Given the description of an element on the screen output the (x, y) to click on. 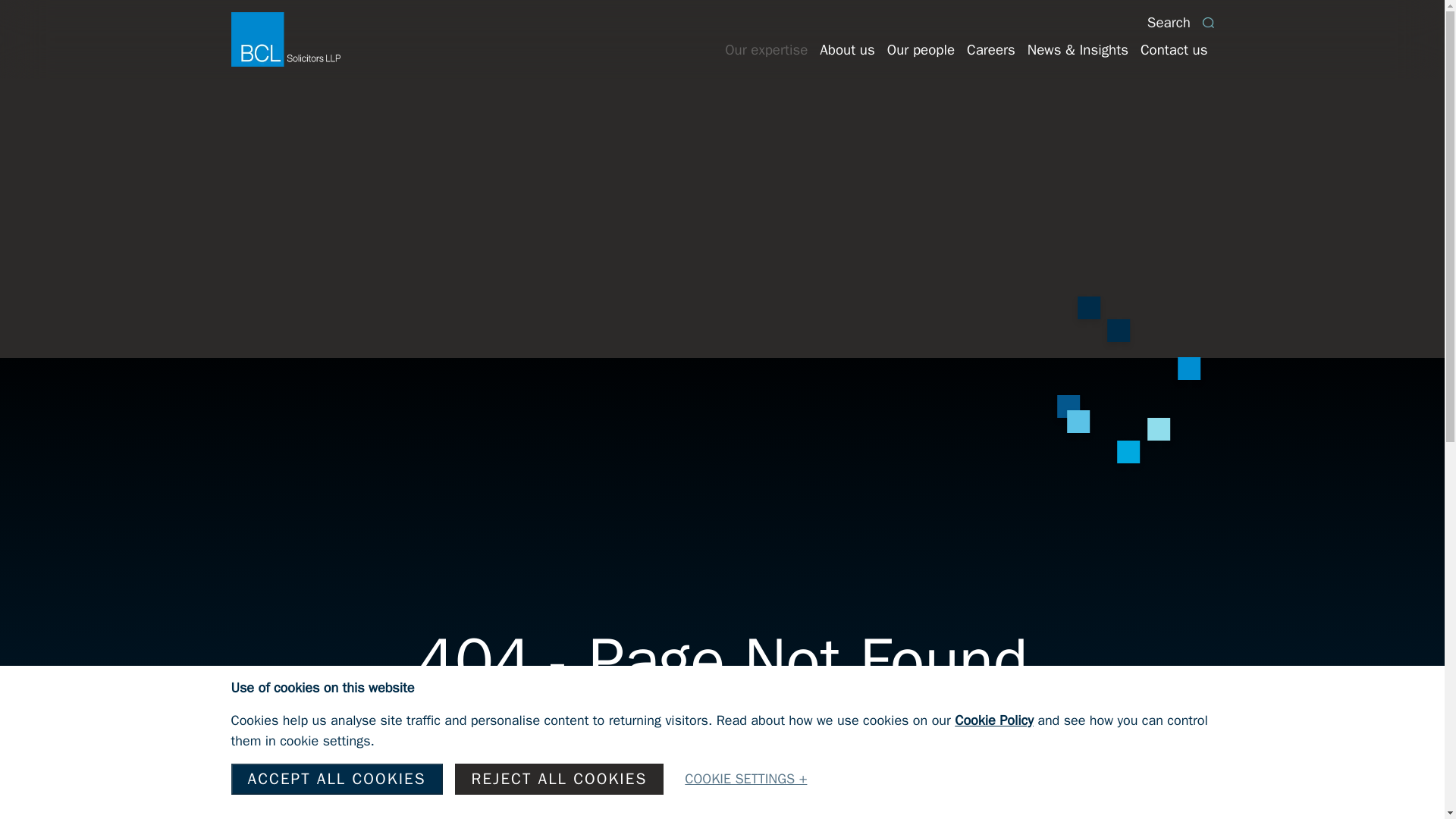
Cookie Policy (994, 719)
About us (846, 49)
Contact us (1174, 49)
Our expertise (766, 49)
ACCEPT ALL COOKIES (336, 778)
Go to Home Page (721, 758)
Careers (991, 49)
Our people (920, 49)
REJECT ALL COOKIES (558, 778)
